Given the description of an element on the screen output the (x, y) to click on. 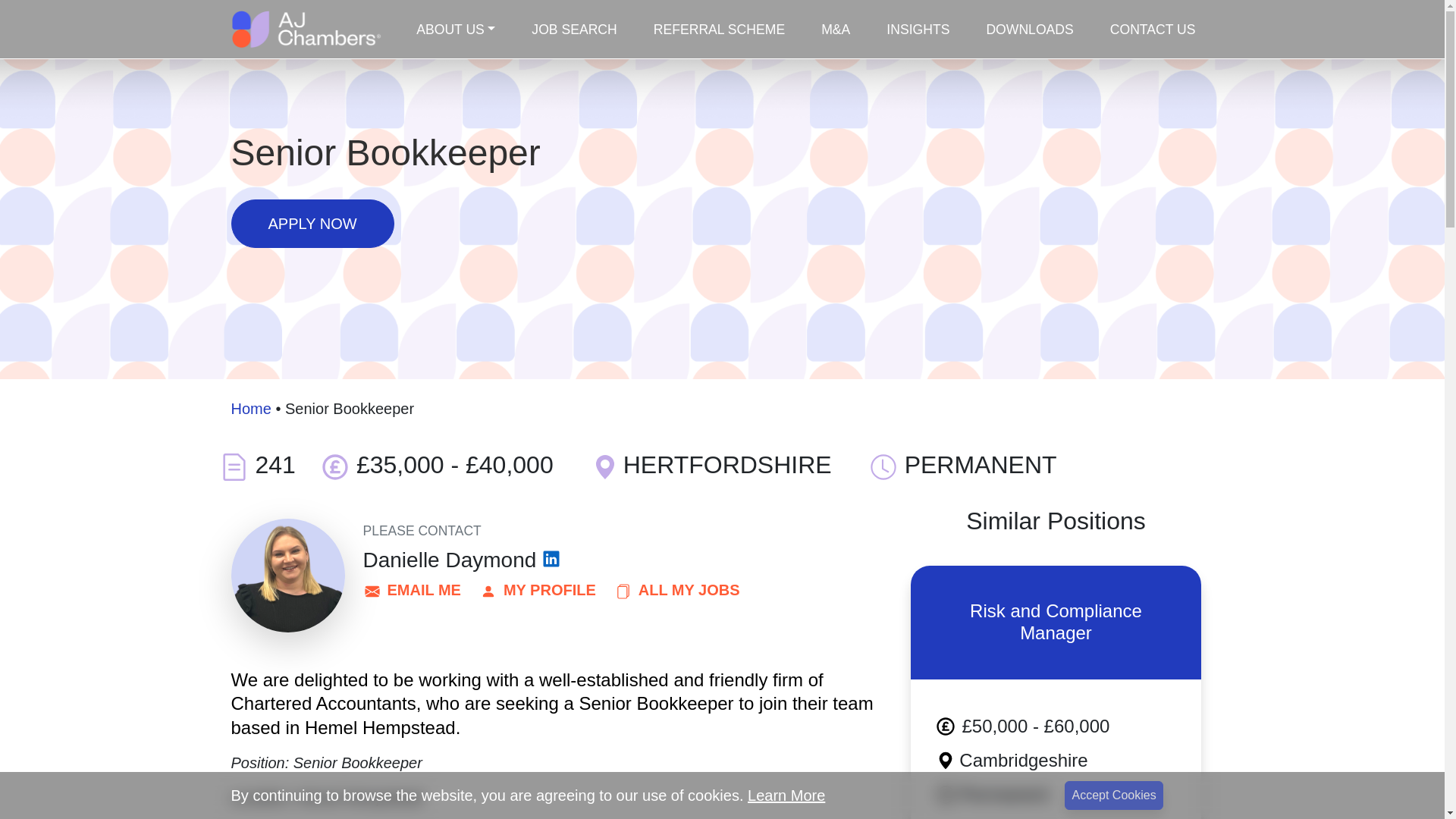
Home (250, 408)
Risk and Compliance Manager (1055, 622)
JOB SEARCH (573, 29)
Downloads (1029, 29)
MY PROFILE (537, 589)
Contact Us (1153, 29)
REFERRAL SCHEME (718, 29)
Insights (917, 29)
Job Search (573, 29)
CONTACT US (1153, 29)
Referral Scheme (718, 29)
DOWNLOADS (1029, 29)
APPLY NOW (311, 223)
EMAIL ME (411, 589)
ALL MY JOBS (676, 589)
